Given the description of an element on the screen output the (x, y) to click on. 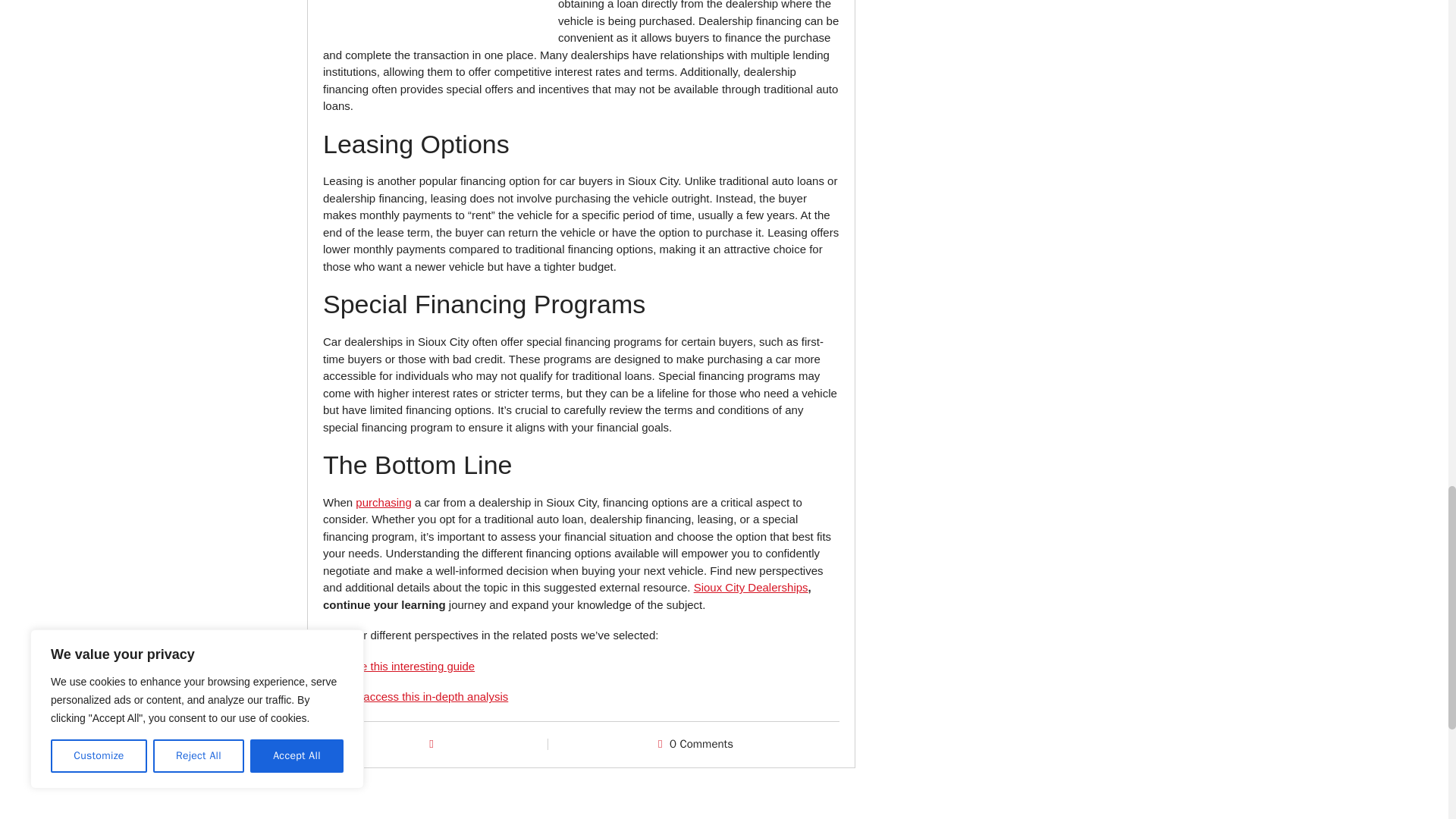
Click to access this in-depth analysis (415, 696)
purchasing (382, 502)
0 Comments (701, 744)
Sioux City Dealerships (751, 586)
Examine this interesting guide (398, 666)
